Given the description of an element on the screen output the (x, y) to click on. 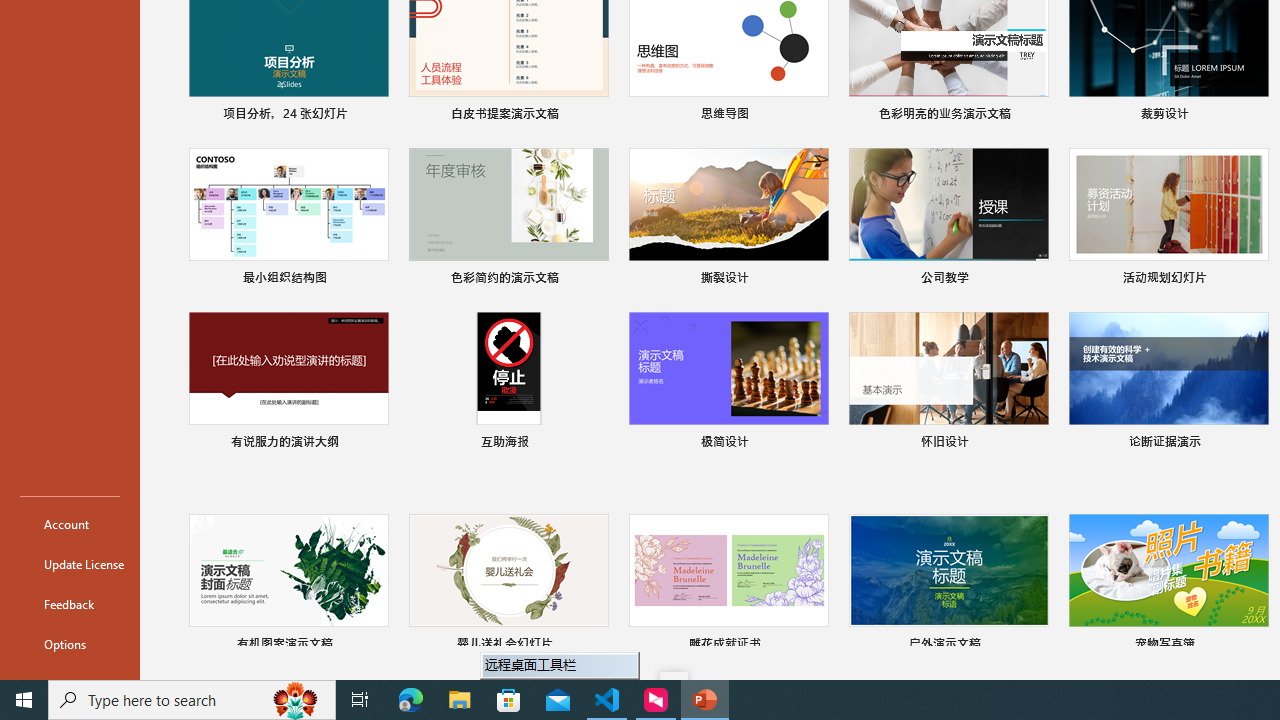
Account (69, 523)
